Given the description of an element on the screen output the (x, y) to click on. 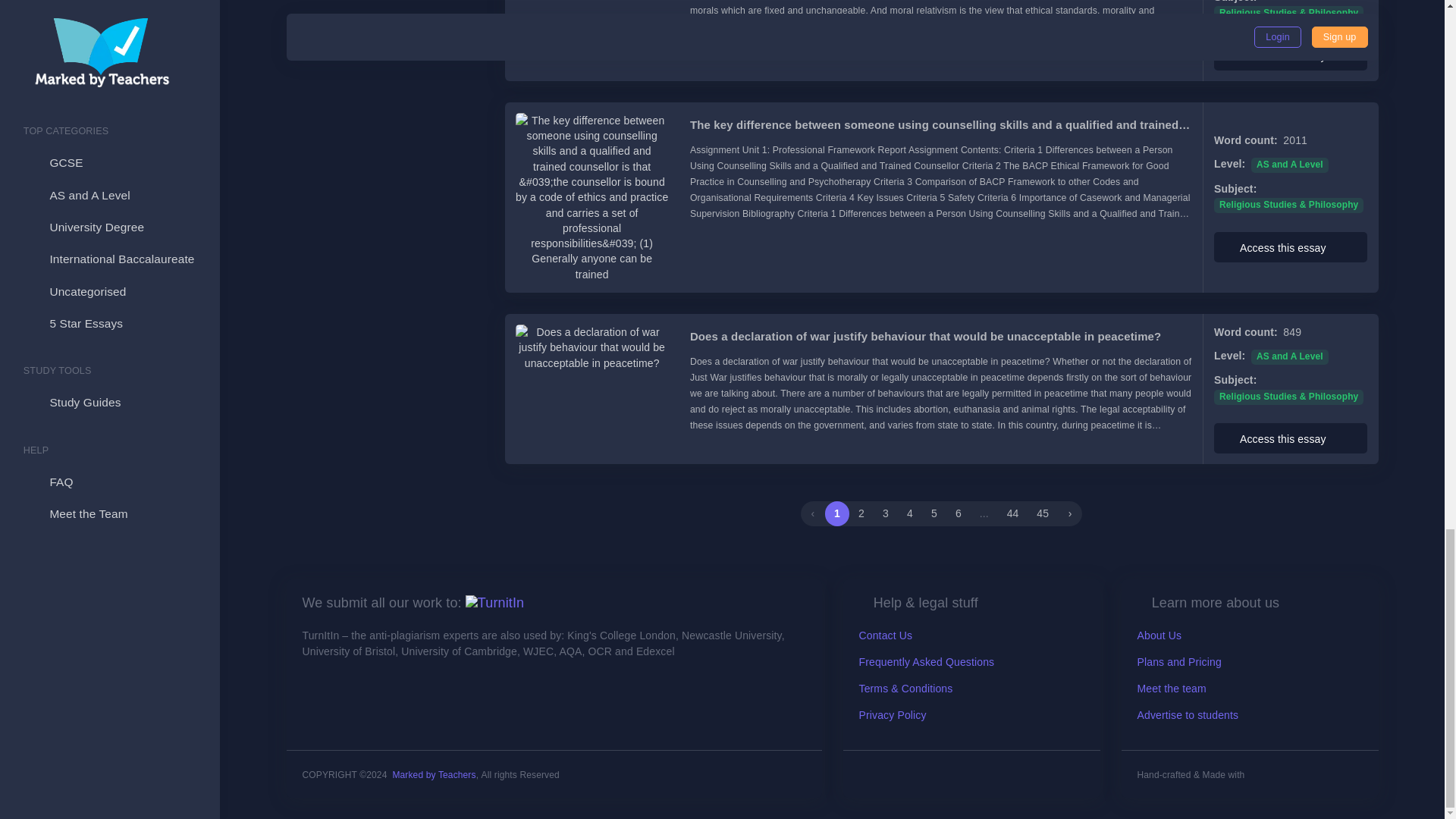
Terms and Conditions (905, 688)
Marked byTeachers About Us (494, 602)
Frequently Asked Questions (926, 662)
Contact Us (885, 635)
Marked by Teachers (433, 774)
